Given the description of an element on the screen output the (x, y) to click on. 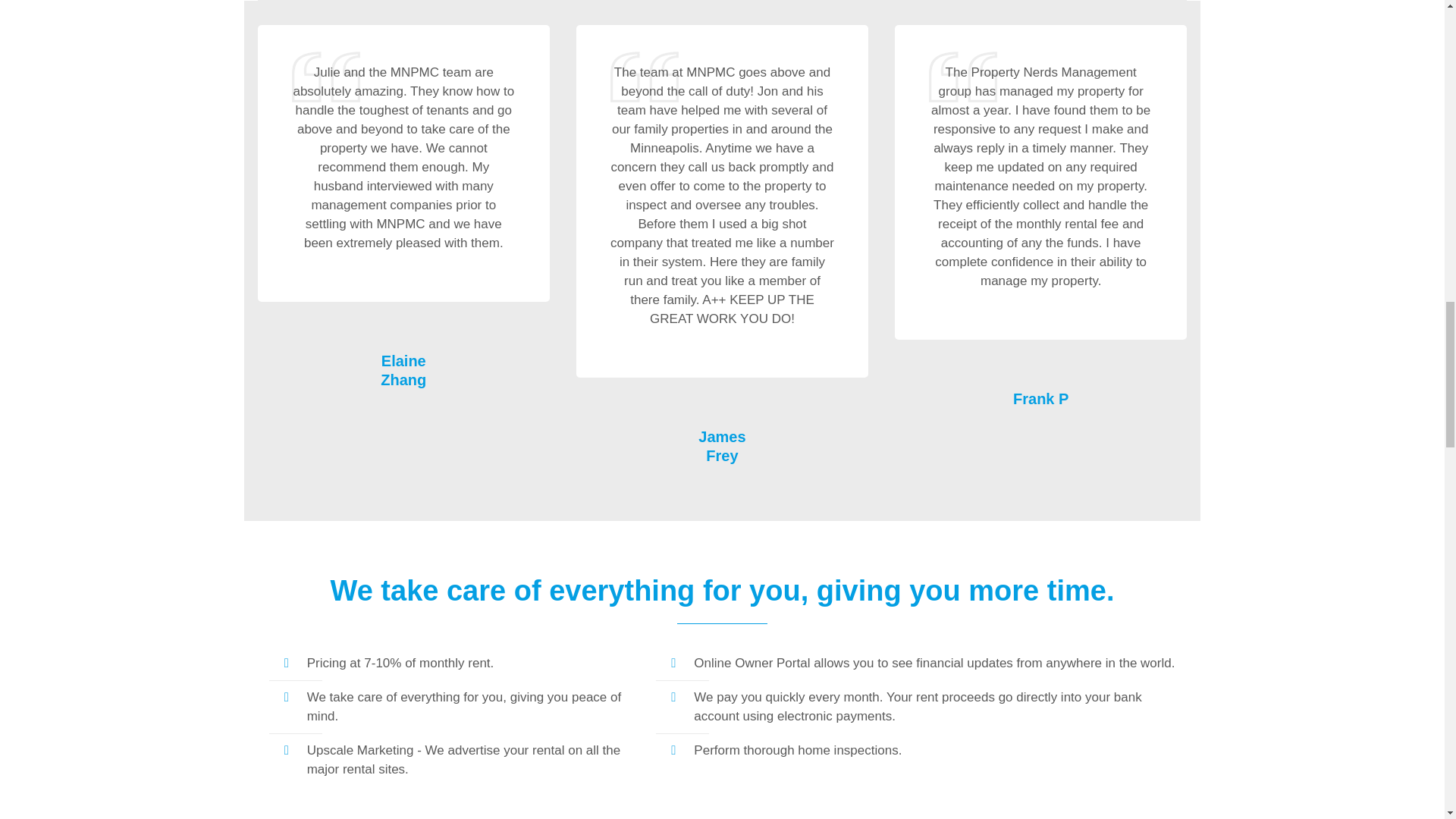
elaine2 (402, 303)
frank-round (1040, 341)
james-round (721, 379)
